Given the description of an element on the screen output the (x, y) to click on. 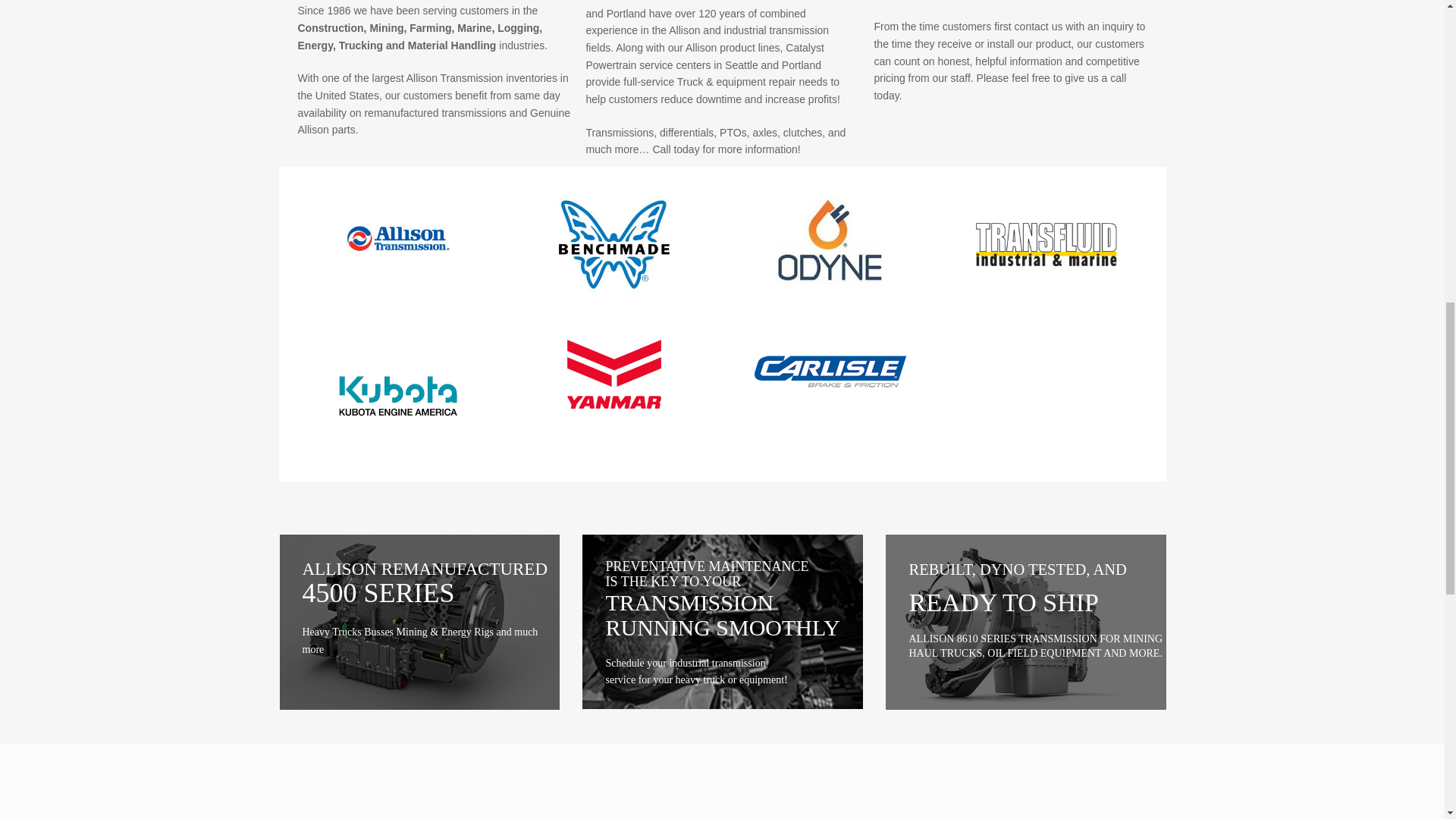
Odyne Systems logo (830, 240)
yanmar-logo (614, 373)
